Given the description of an element on the screen output the (x, y) to click on. 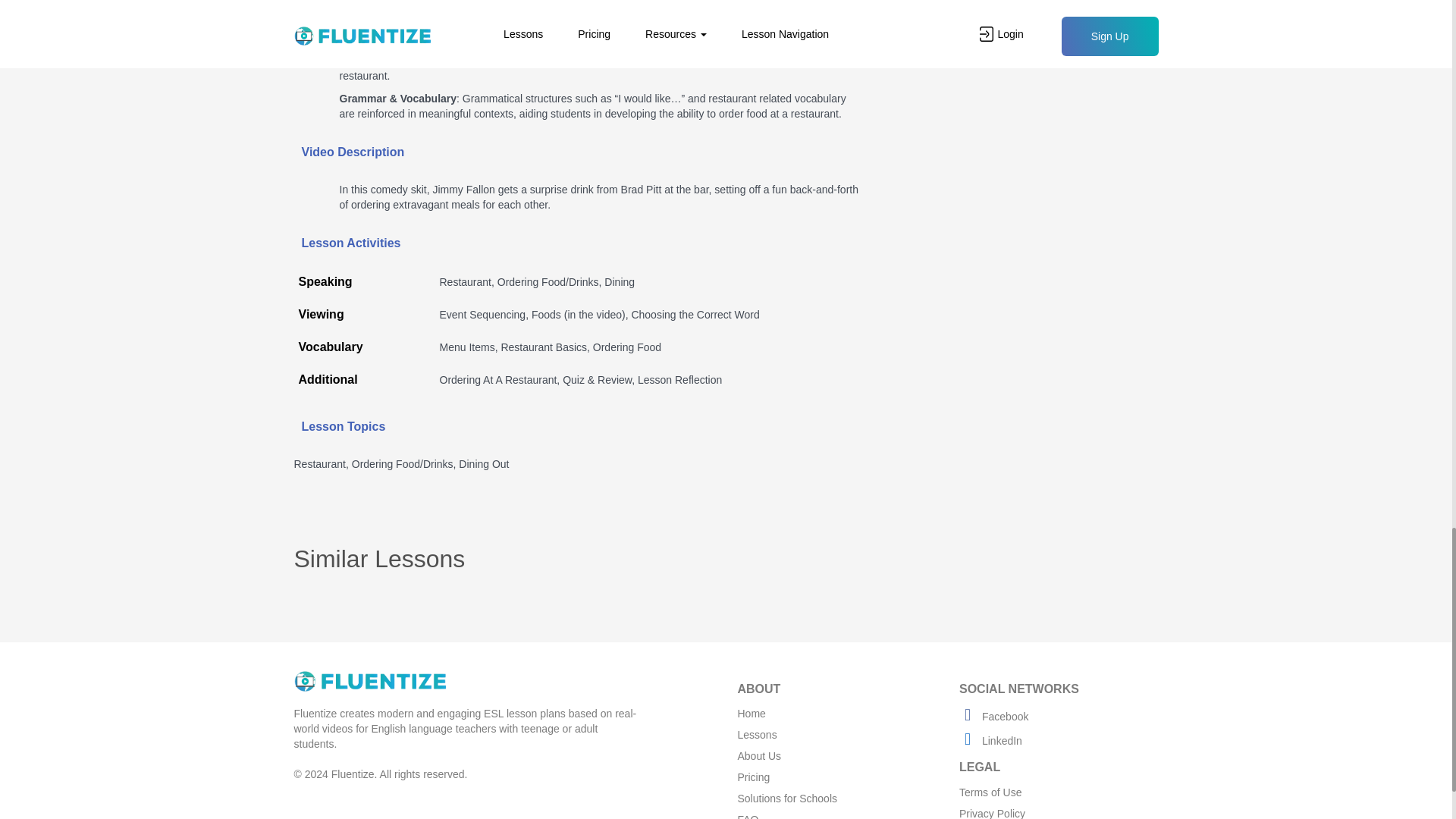
Home (750, 713)
Pricing (753, 776)
Lessons (756, 734)
Facebook (993, 716)
FAQ (747, 816)
Follow on Linkedin (990, 740)
Solutions for Schools (786, 798)
Follow on Facebook (993, 716)
About Us (758, 756)
Terms of Use (990, 792)
LinkedIn (990, 740)
